Given the description of an element on the screen output the (x, y) to click on. 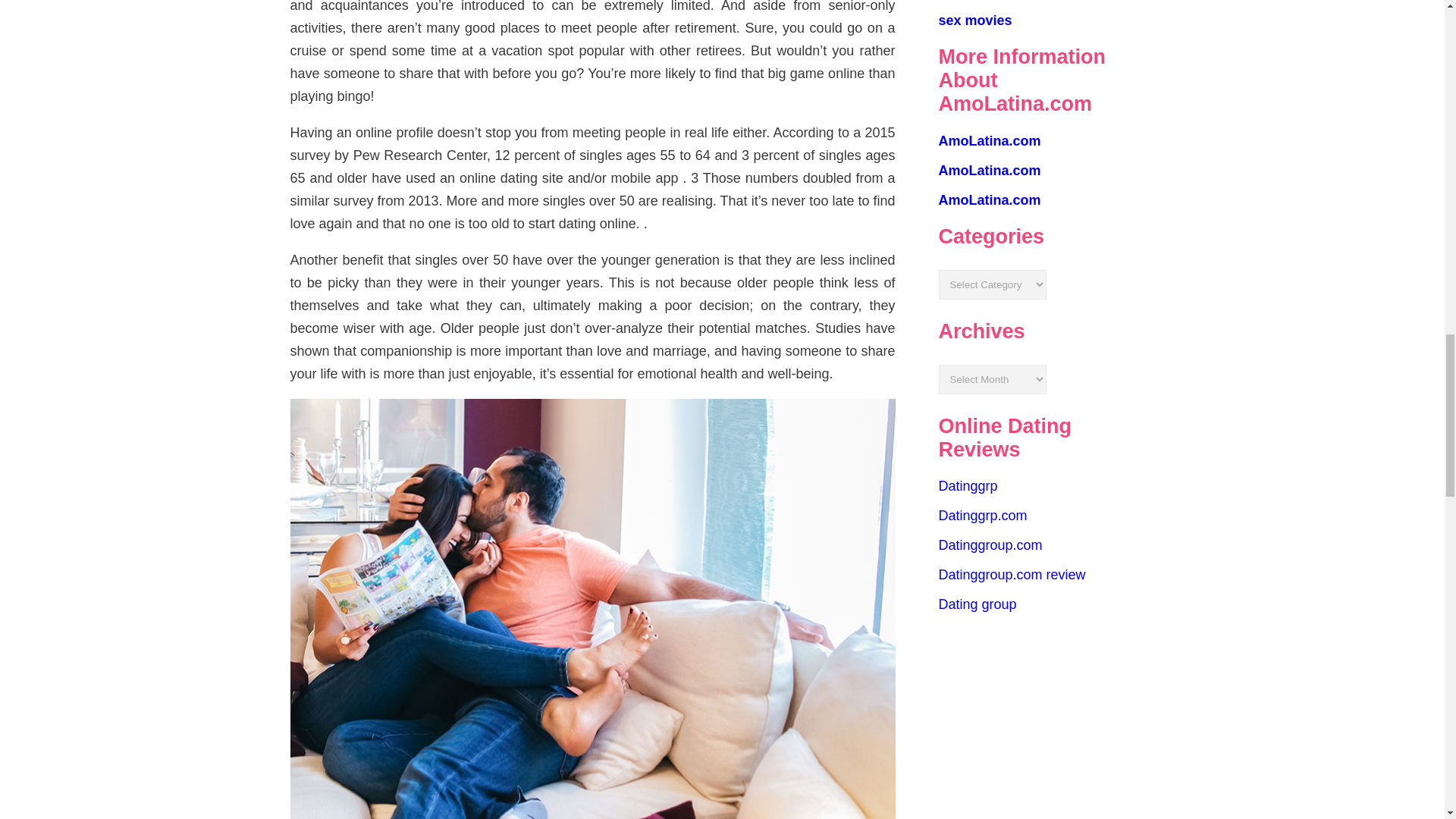
Datinggrp.com (983, 515)
Datinggrp (968, 485)
Datinggroup.com (990, 544)
AmoLatina.com (990, 170)
AmoLatina.com (990, 140)
sex movies (975, 20)
AmoLatina.com (990, 200)
